Given the description of an element on the screen output the (x, y) to click on. 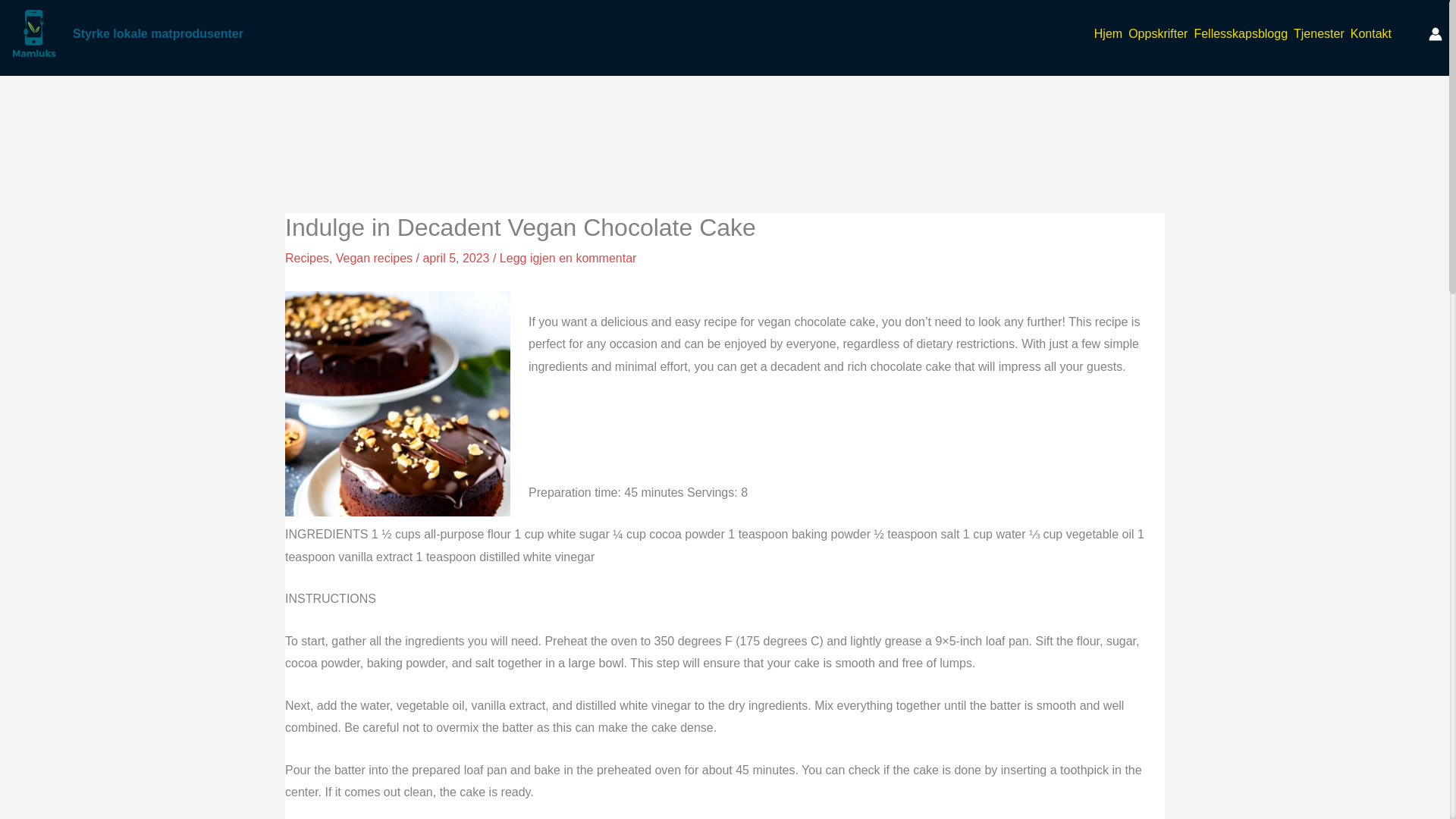
Oppskrifter (1158, 33)
Tjenester (1319, 33)
Legg igjen en kommentar (568, 257)
Vegan recipes (374, 257)
Fellesskapsblogg (1240, 33)
Hjem (1107, 33)
Recipes (307, 257)
Styrke lokale matprodusenter (157, 33)
Kontakt (1371, 33)
